Given the description of an element on the screen output the (x, y) to click on. 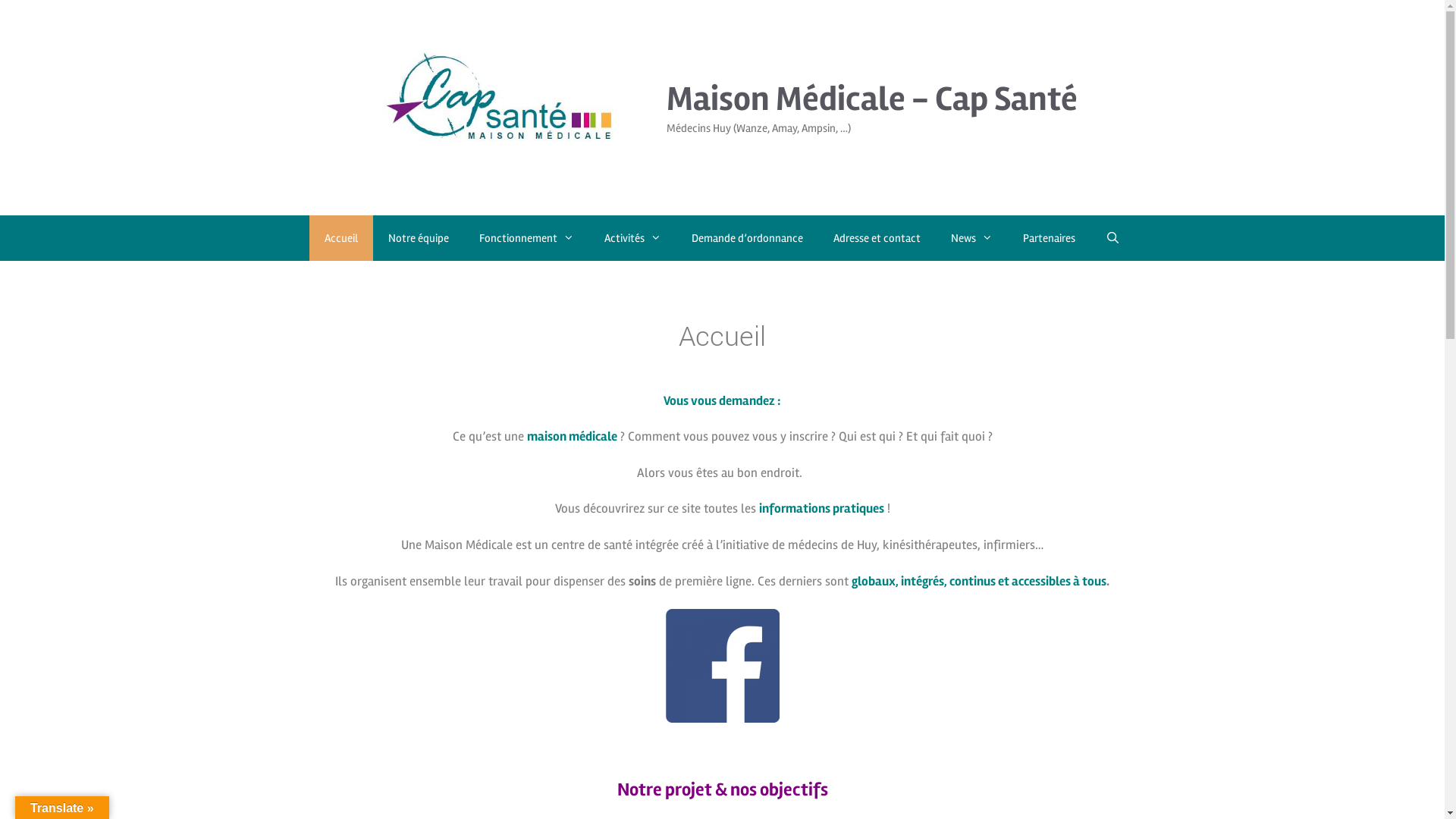
News Element type: text (971, 237)
Adresse et contact Element type: text (876, 237)
Fonctionnement Element type: text (526, 237)
Accueil Element type: text (341, 237)
Partenaires Element type: text (1048, 237)
